Given the description of an element on the screen output the (x, y) to click on. 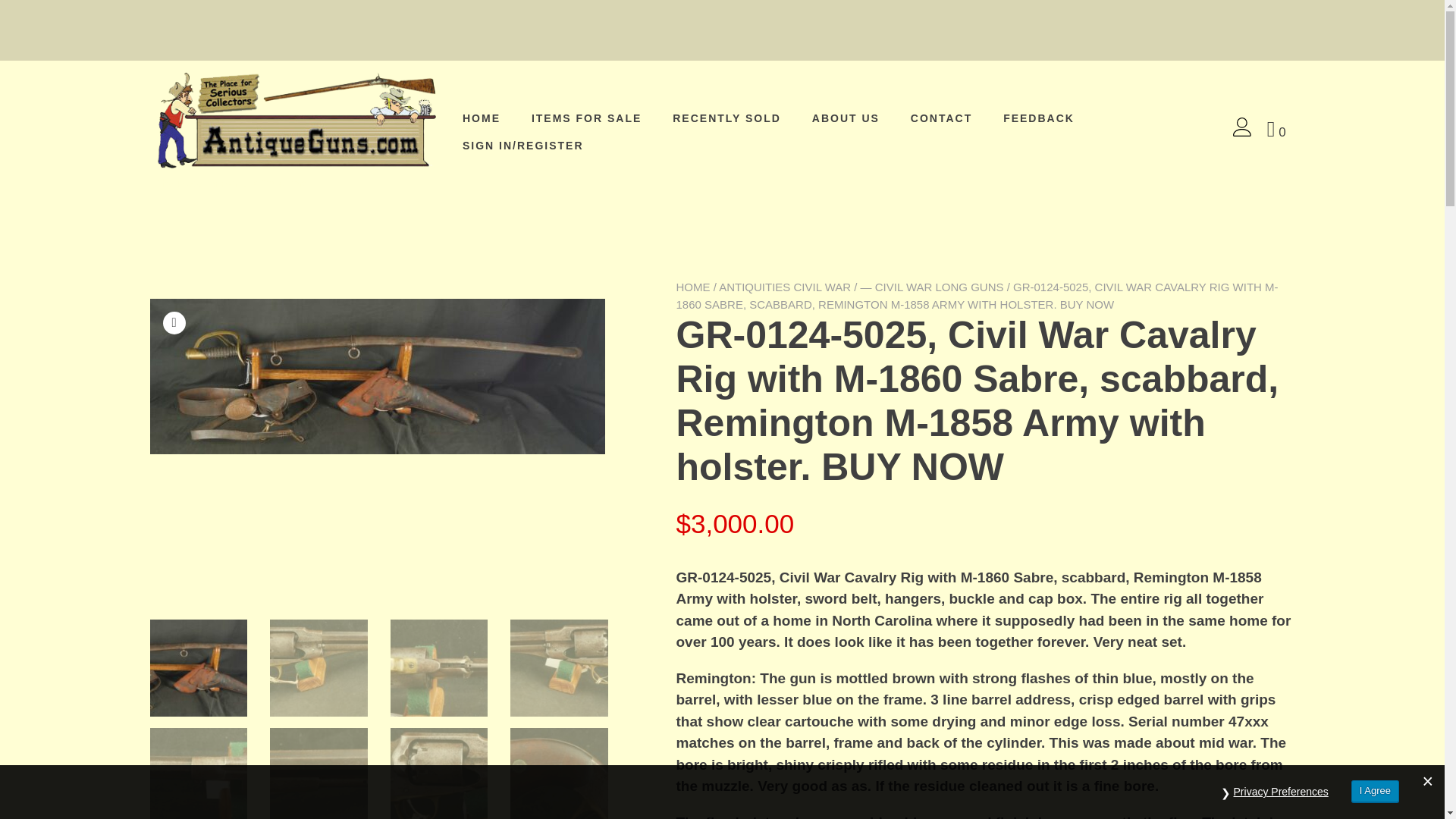
RECENTLY SOLD (726, 118)
0 (1283, 129)
CONTACT (941, 118)
FEEDBACK (1038, 118)
GR-1123-5031X (377, 376)
HOME (481, 118)
ITEMS FOR SALE (586, 118)
ABOUT US (845, 118)
